Given the description of an element on the screen output the (x, y) to click on. 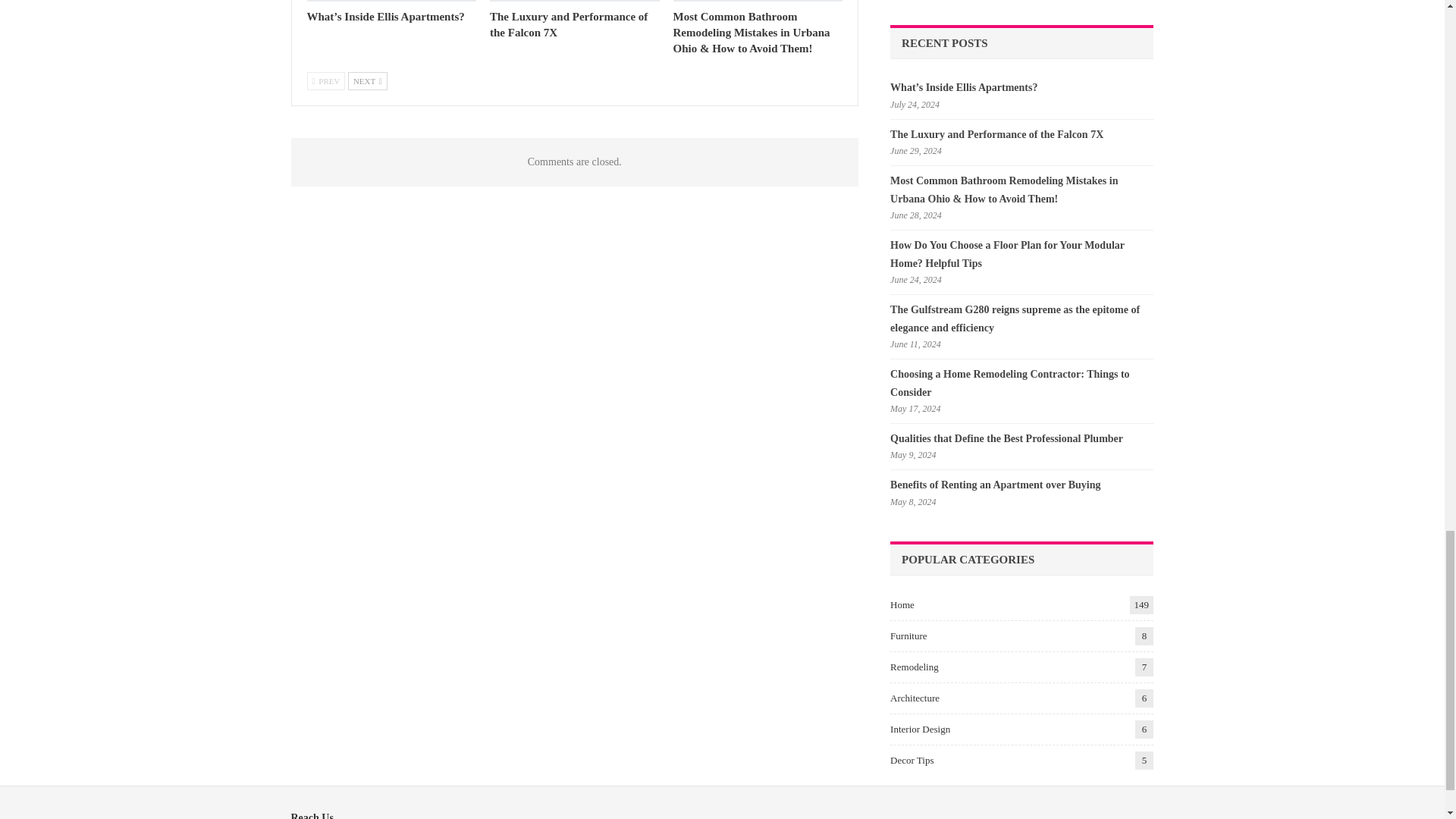
The Luxury and Performance of the Falcon 7X (568, 24)
NEXT (367, 81)
Previous (325, 81)
Next (367, 81)
The Luxury and Performance of the Falcon 7X (568, 24)
PREV (325, 81)
